Given the description of an element on the screen output the (x, y) to click on. 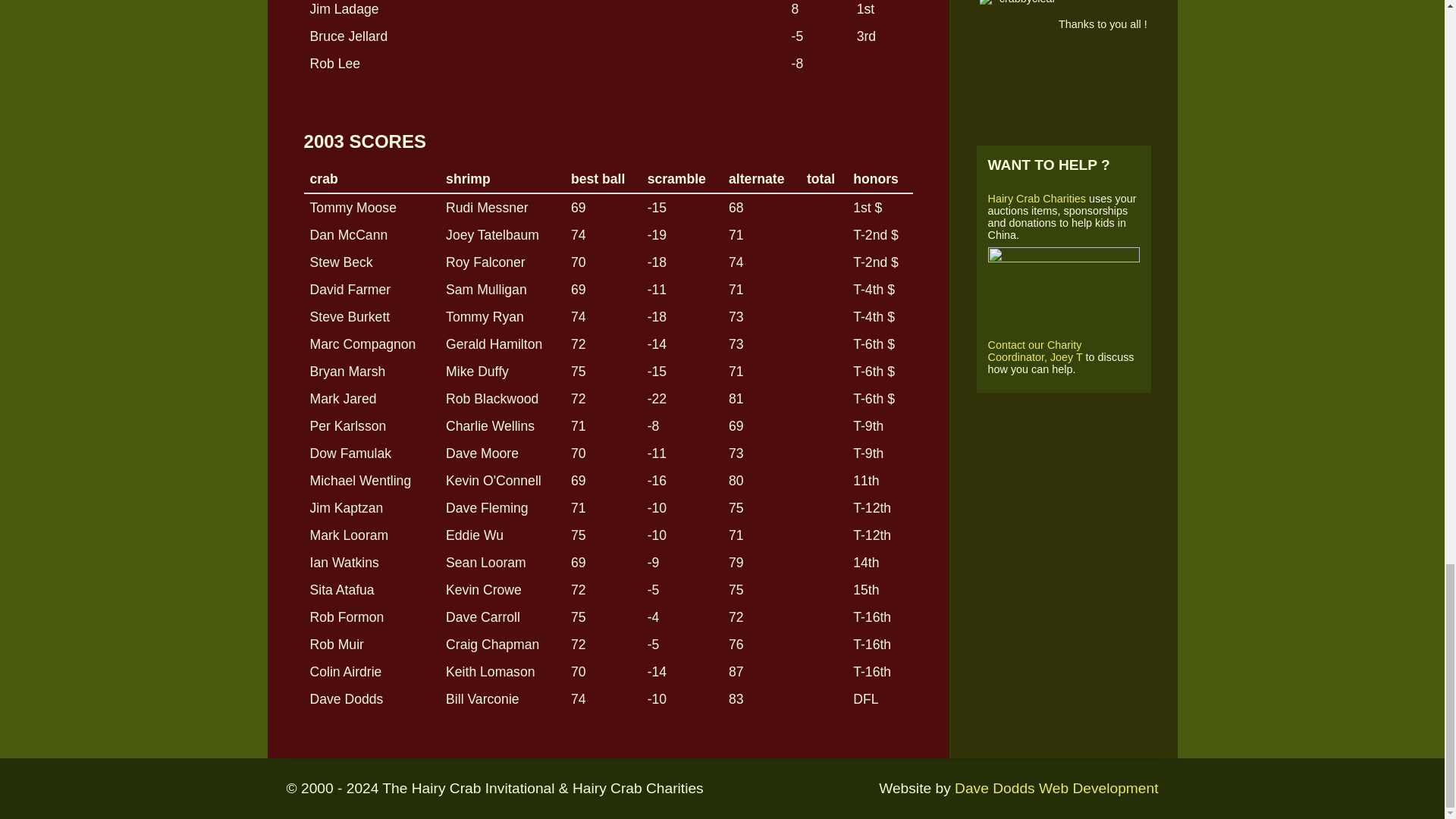
Dave Dodds Web Development (1056, 788)
